Given the description of an element on the screen output the (x, y) to click on. 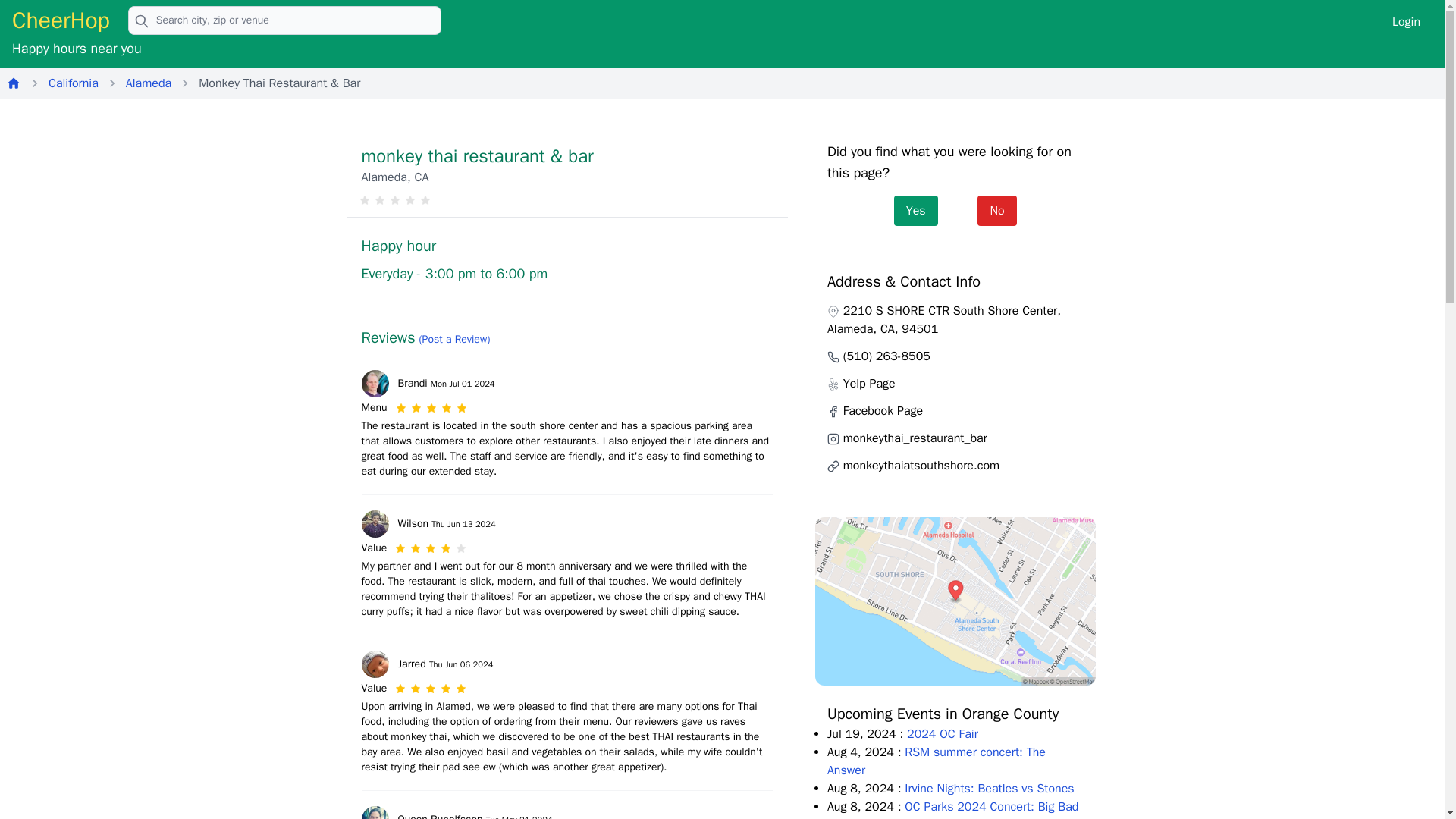
Phone number (833, 357)
CheerHop (60, 20)
California (73, 83)
California (73, 83)
No (996, 210)
Login (1406, 20)
Alameda (148, 83)
Instagram (833, 439)
Facebook Page (883, 410)
Yelp Page (869, 383)
OC Parks 2024 Concert: Big Bad Voodoo Daddy (952, 809)
Title (833, 384)
RSM summer concert: The Answer (936, 761)
Home (13, 83)
2024 OC Fair (942, 734)
